Given the description of an element on the screen output the (x, y) to click on. 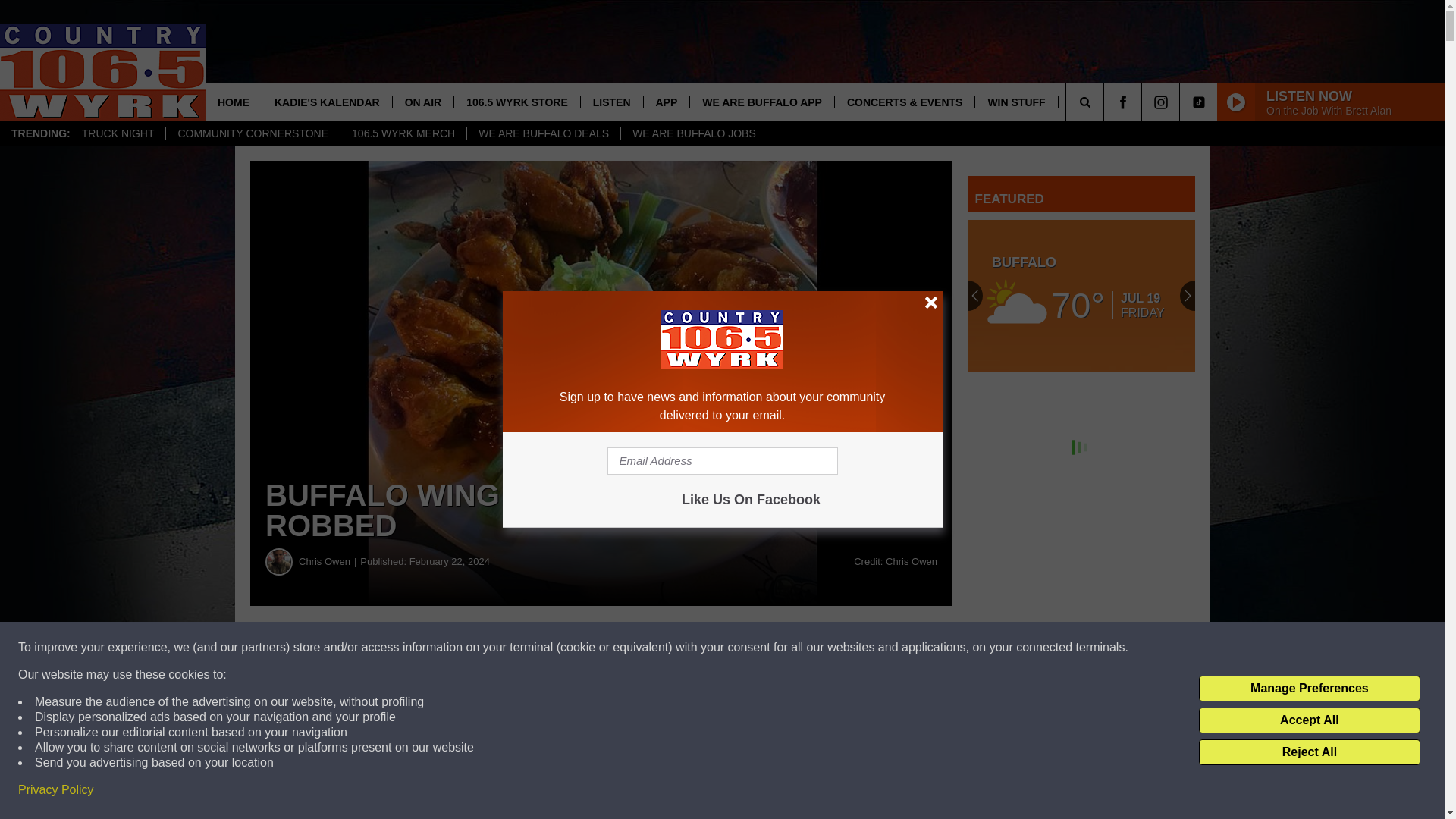
WE ARE BUFFALO DEALS (542, 133)
SEARCH (1106, 102)
Accept All (1309, 720)
ON AIR (421, 102)
HOME (233, 102)
SEARCH (1106, 102)
Privacy Policy (55, 789)
TRUCK NIGHT (117, 133)
KADIE'S KALENDAR (326, 102)
Manage Preferences (1309, 688)
106.5 WYRK STORE (515, 102)
Email Address (722, 461)
Share on Facebook (600, 647)
LISTEN (611, 102)
APP (666, 102)
